Given the description of an element on the screen output the (x, y) to click on. 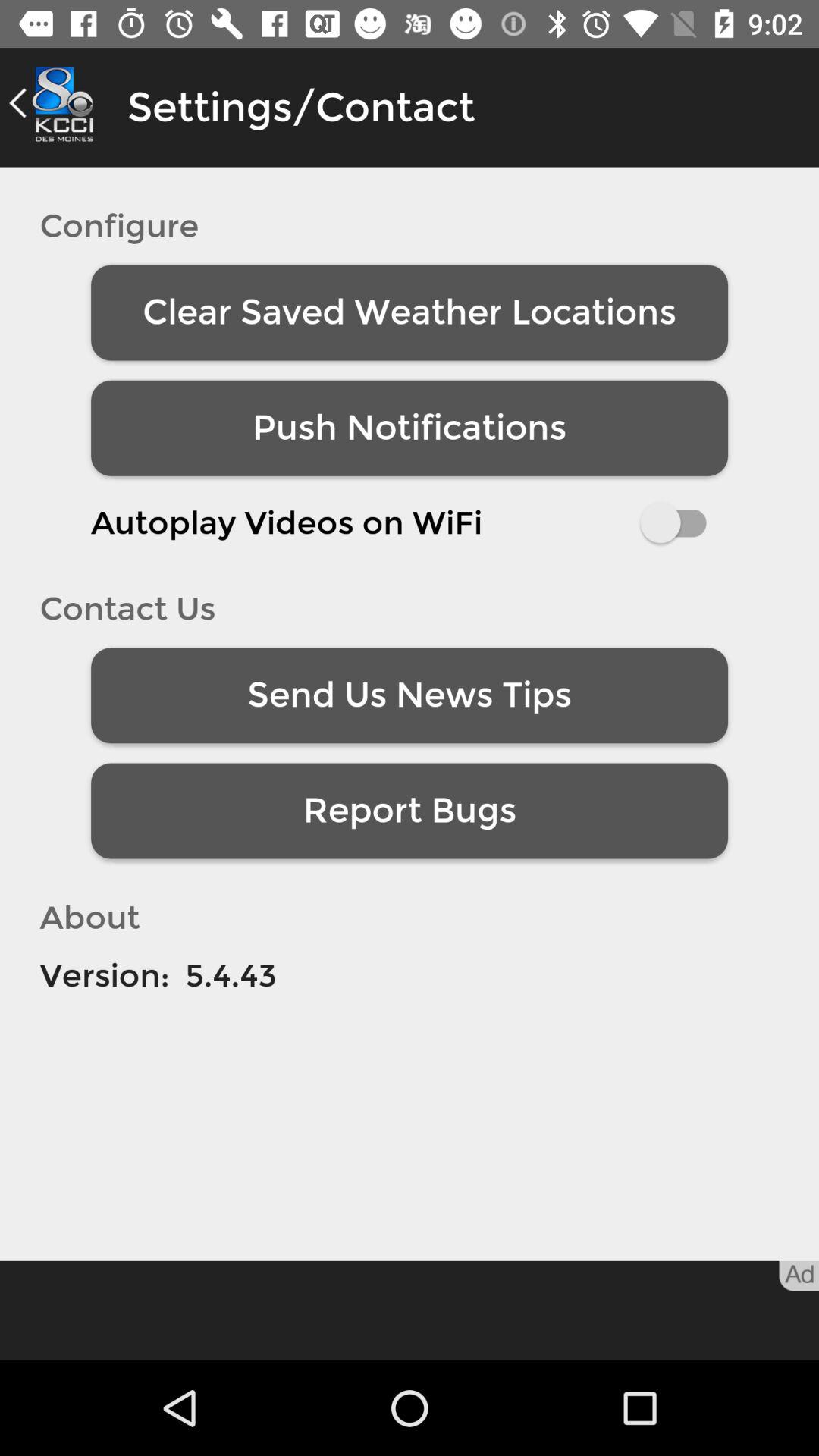
turn off push notifications (409, 428)
